Given the description of an element on the screen output the (x, y) to click on. 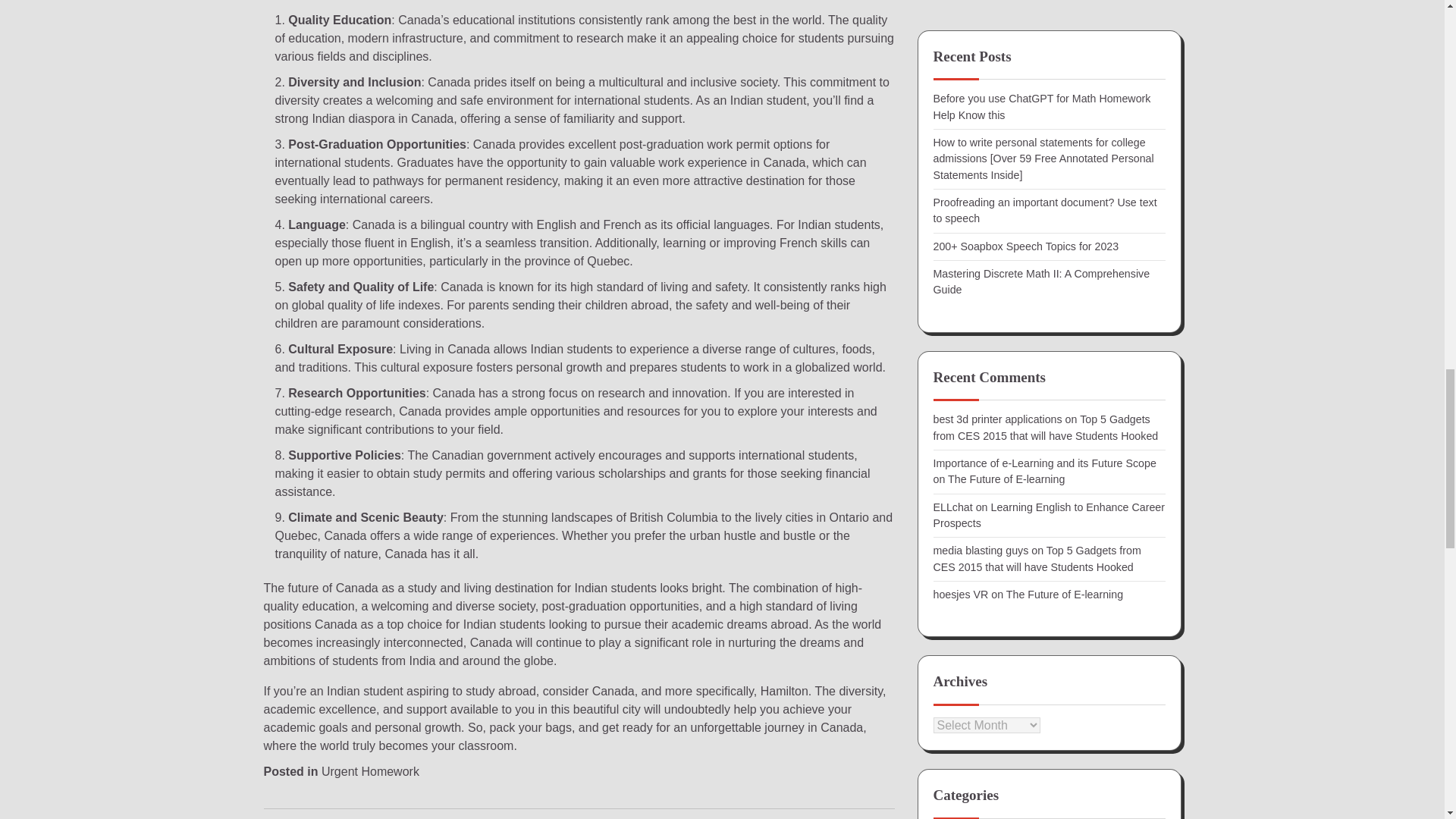
Urgent Homework (370, 771)
